Given the description of an element on the screen output the (x, y) to click on. 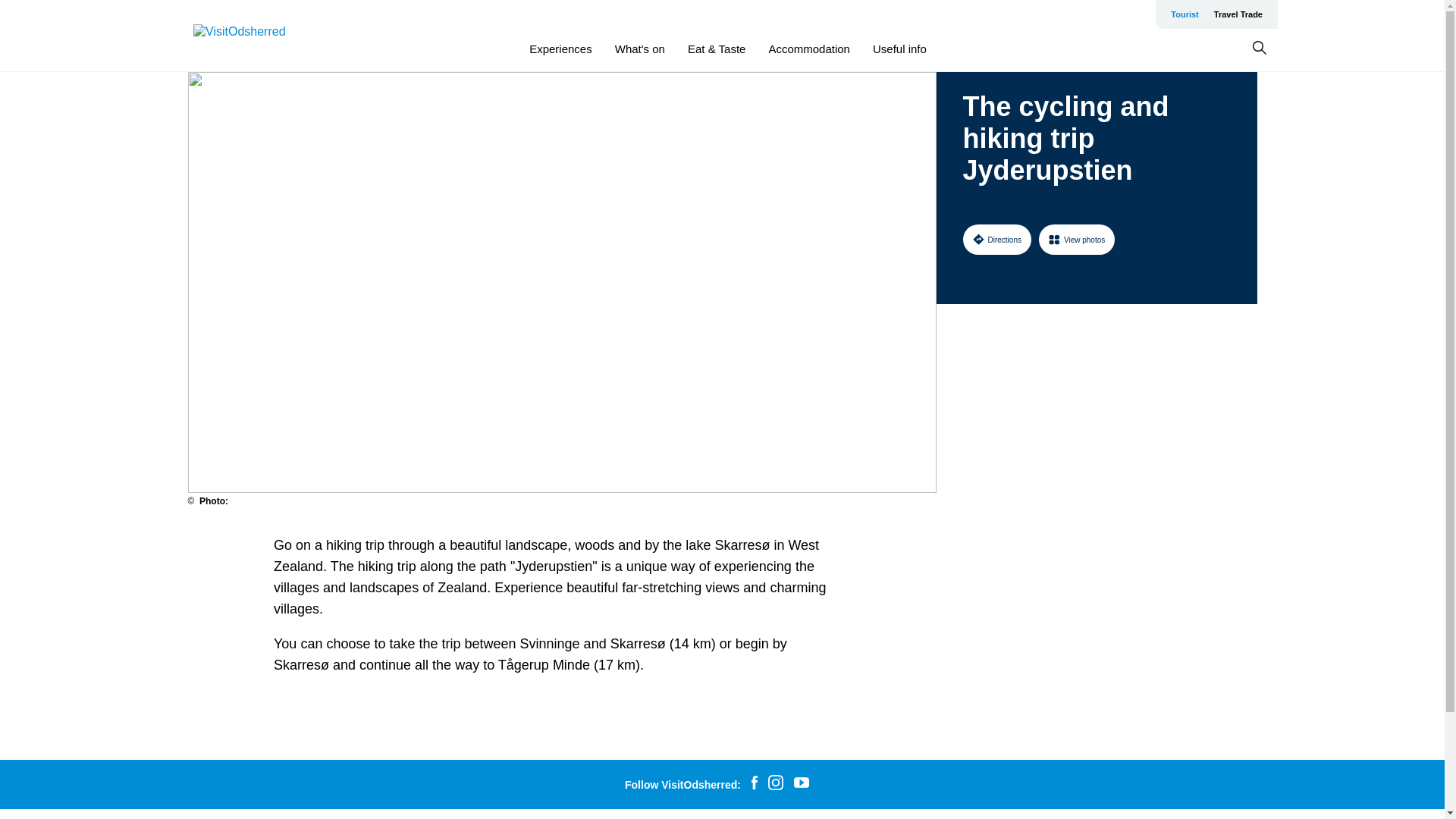
View photos (1077, 239)
Travel Trade (1238, 14)
instagram (775, 784)
Directions (996, 239)
youtube (801, 784)
Accommodation (809, 48)
What's on (639, 48)
Experiences (560, 48)
Tourist (1184, 14)
Useful info (899, 48)
Go to homepage (253, 35)
facebook (753, 784)
